Given the description of an element on the screen output the (x, y) to click on. 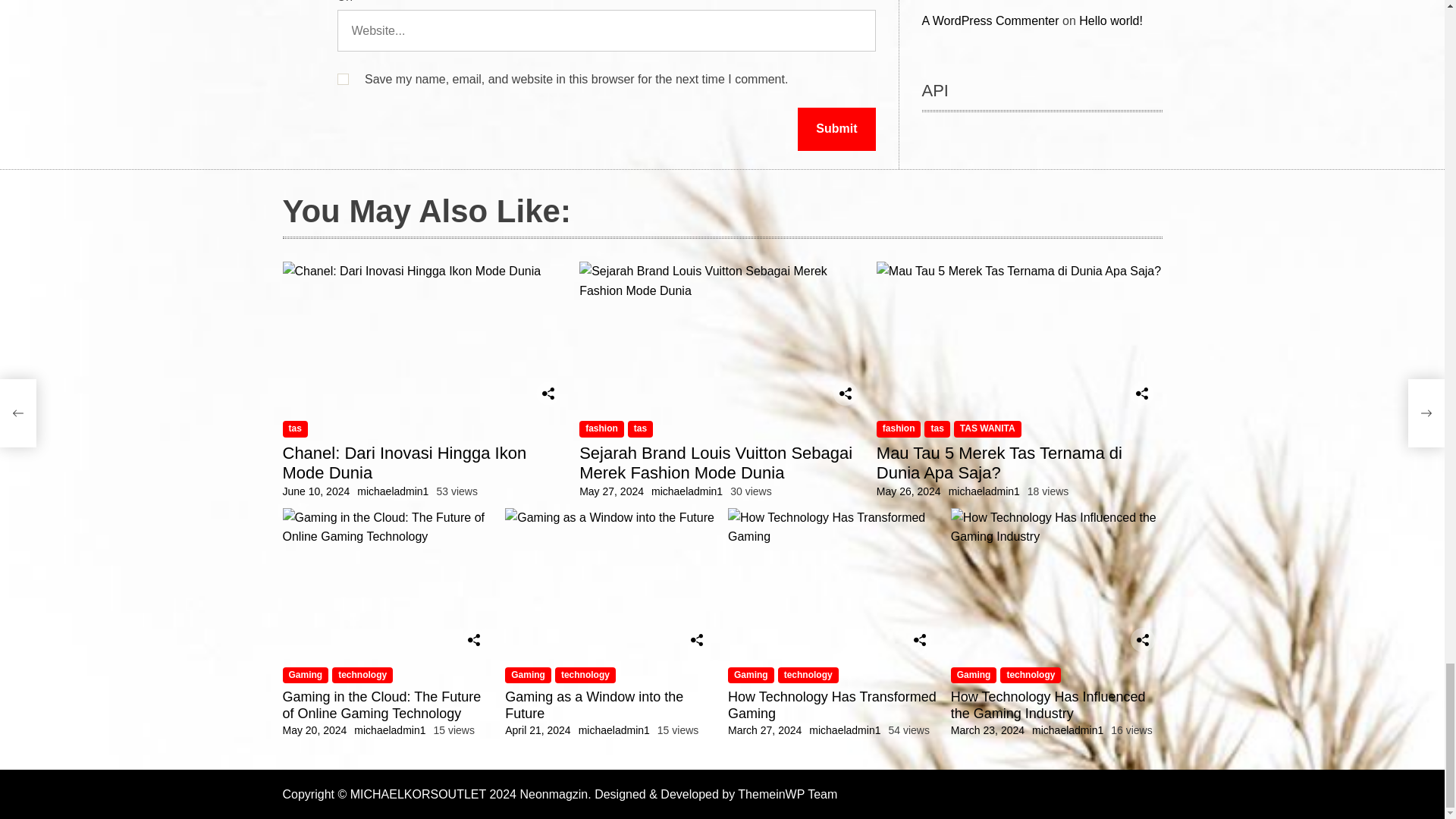
Submit (836, 128)
yes (341, 79)
